Given the description of an element on the screen output the (x, y) to click on. 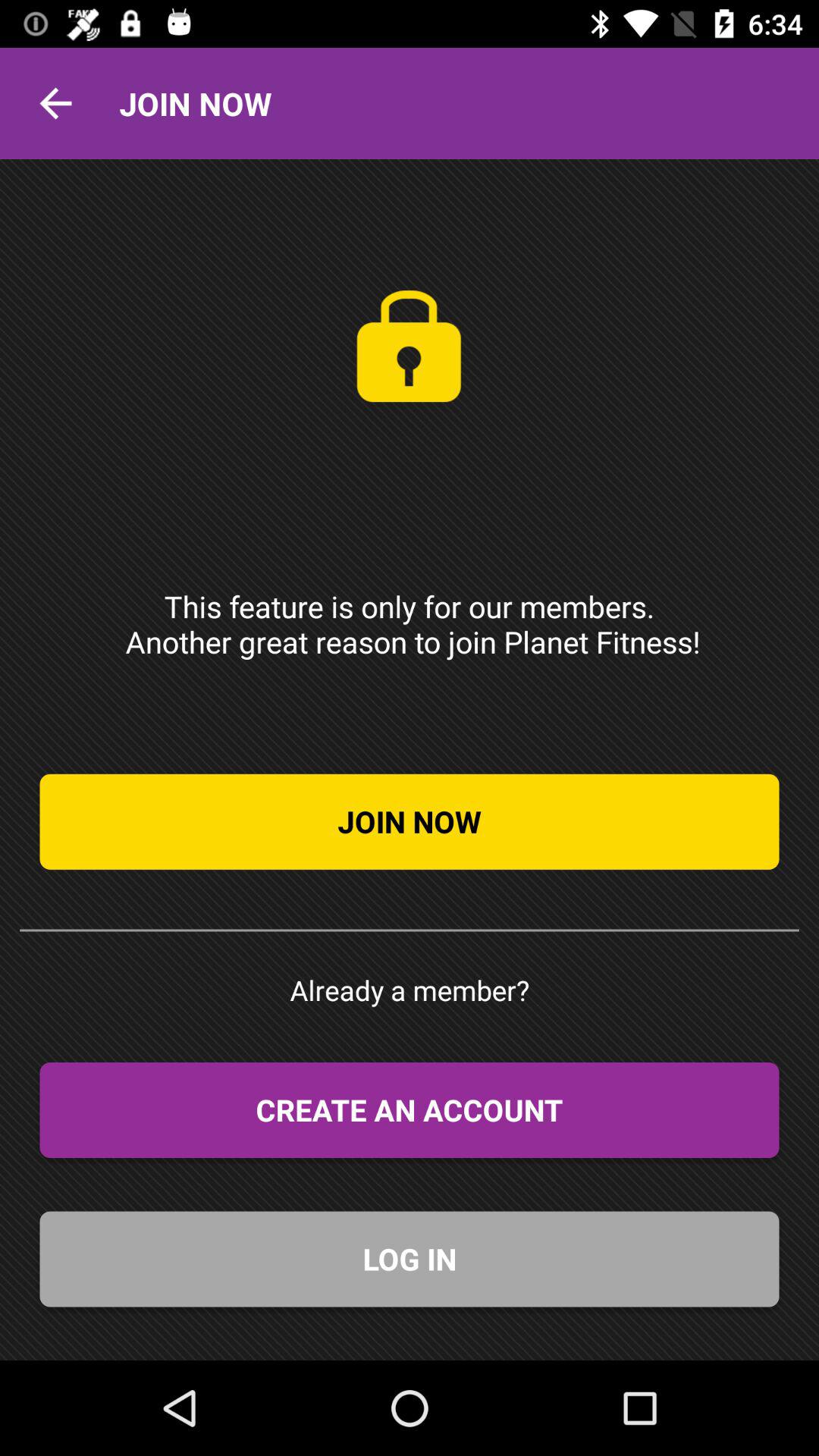
select item above the log in icon (409, 1109)
